Given the description of an element on the screen output the (x, y) to click on. 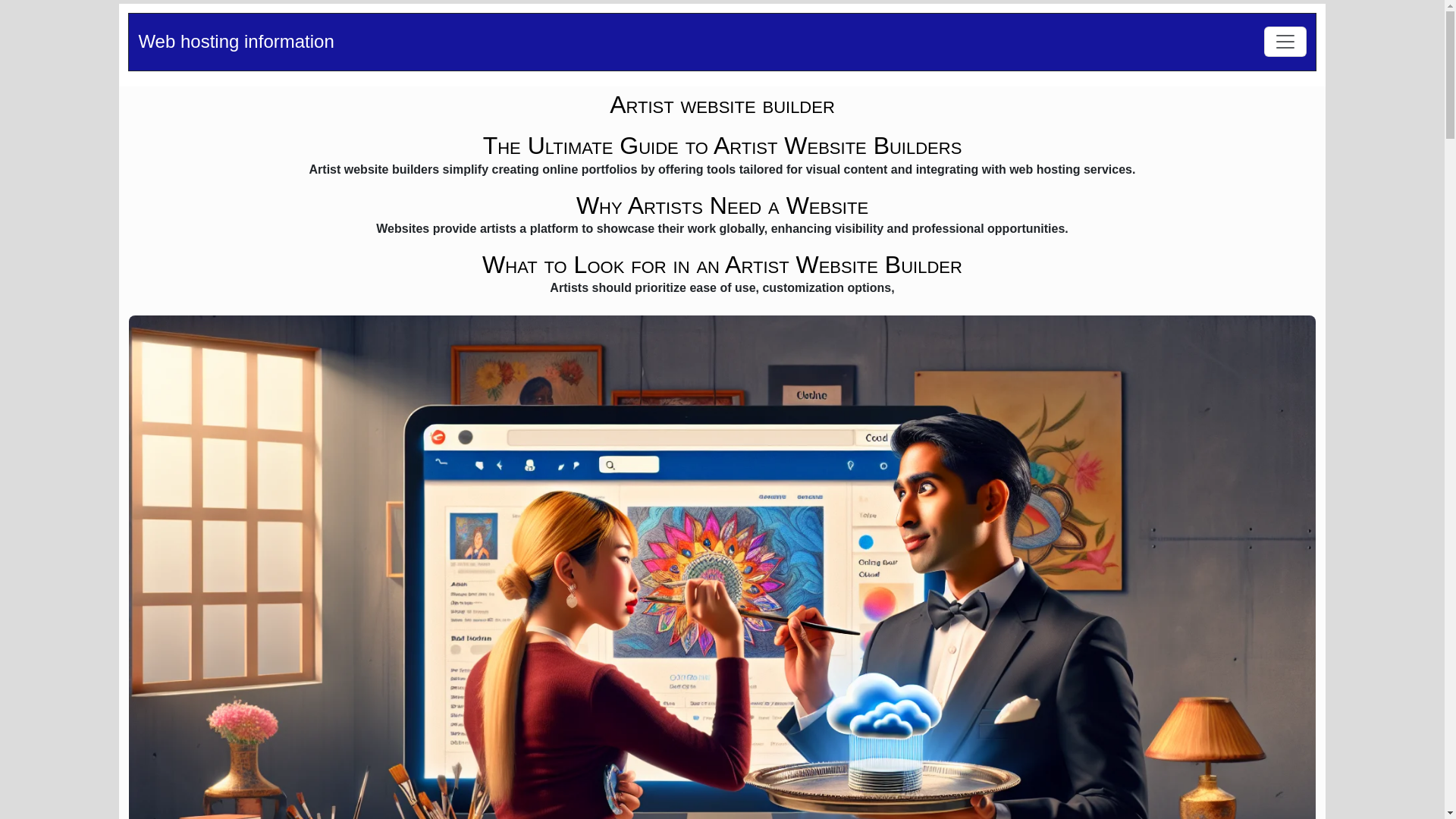
Web hosting information (235, 41)
